Given the description of an element on the screen output the (x, y) to click on. 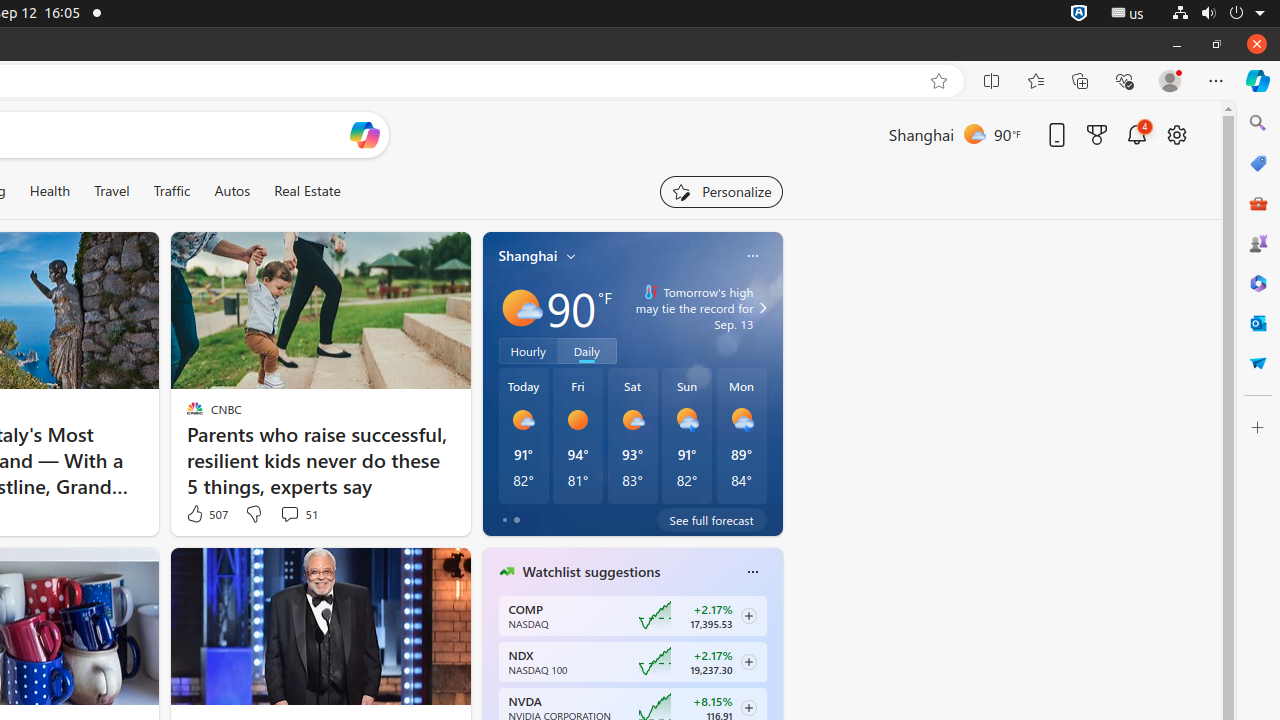
Traffic Element type: link (172, 191)
Health Element type: link (50, 191)
Profile 1 Profile, Please sign in Element type: push-button (1170, 81)
COMP NASDAQ ‎+2.17%‎ 17,395.53 Element type: link (632, 616)
Drop Element type: push-button (1258, 363)
